Given the description of an element on the screen output the (x, y) to click on. 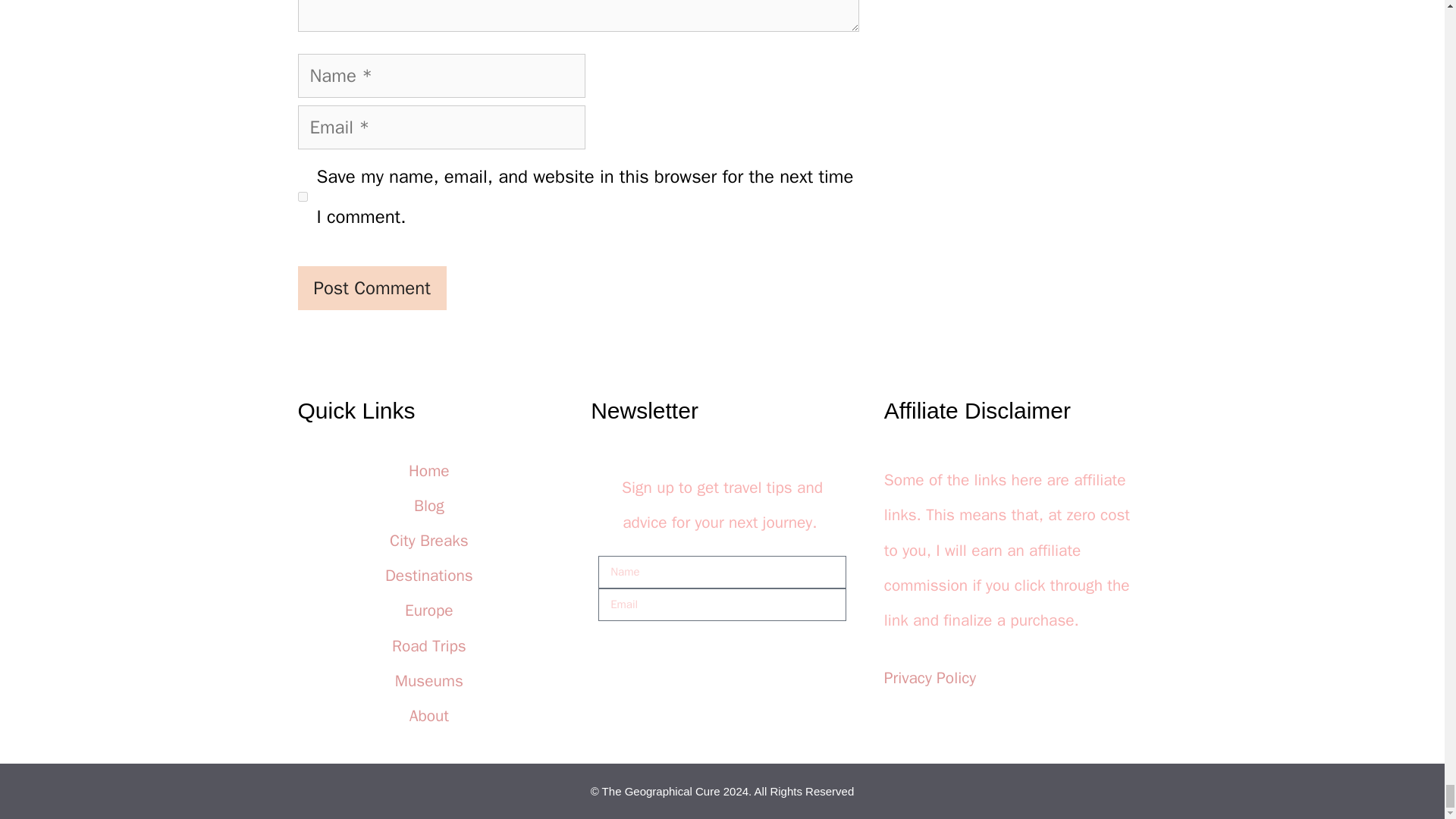
Post Comment (371, 288)
yes (302, 196)
